Given the description of an element on the screen output the (x, y) to click on. 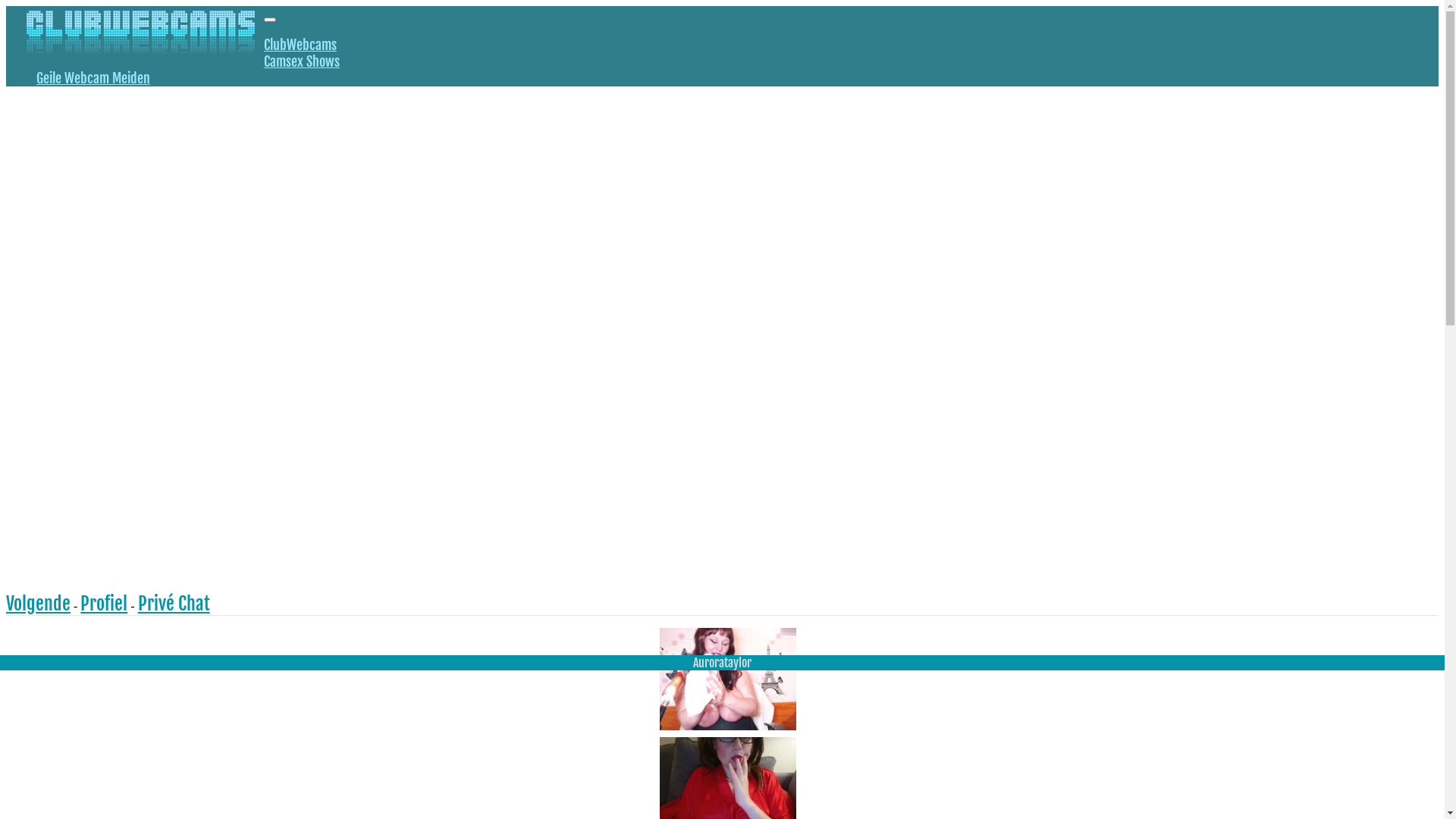
ClubWebcams Element type: text (299, 44)
Camsex Shows Element type: text (301, 61)
Profiel Element type: text (103, 603)
Geile Webcam Meiden Element type: text (93, 77)
Volgende Element type: text (38, 603)
